Given the description of an element on the screen output the (x, y) to click on. 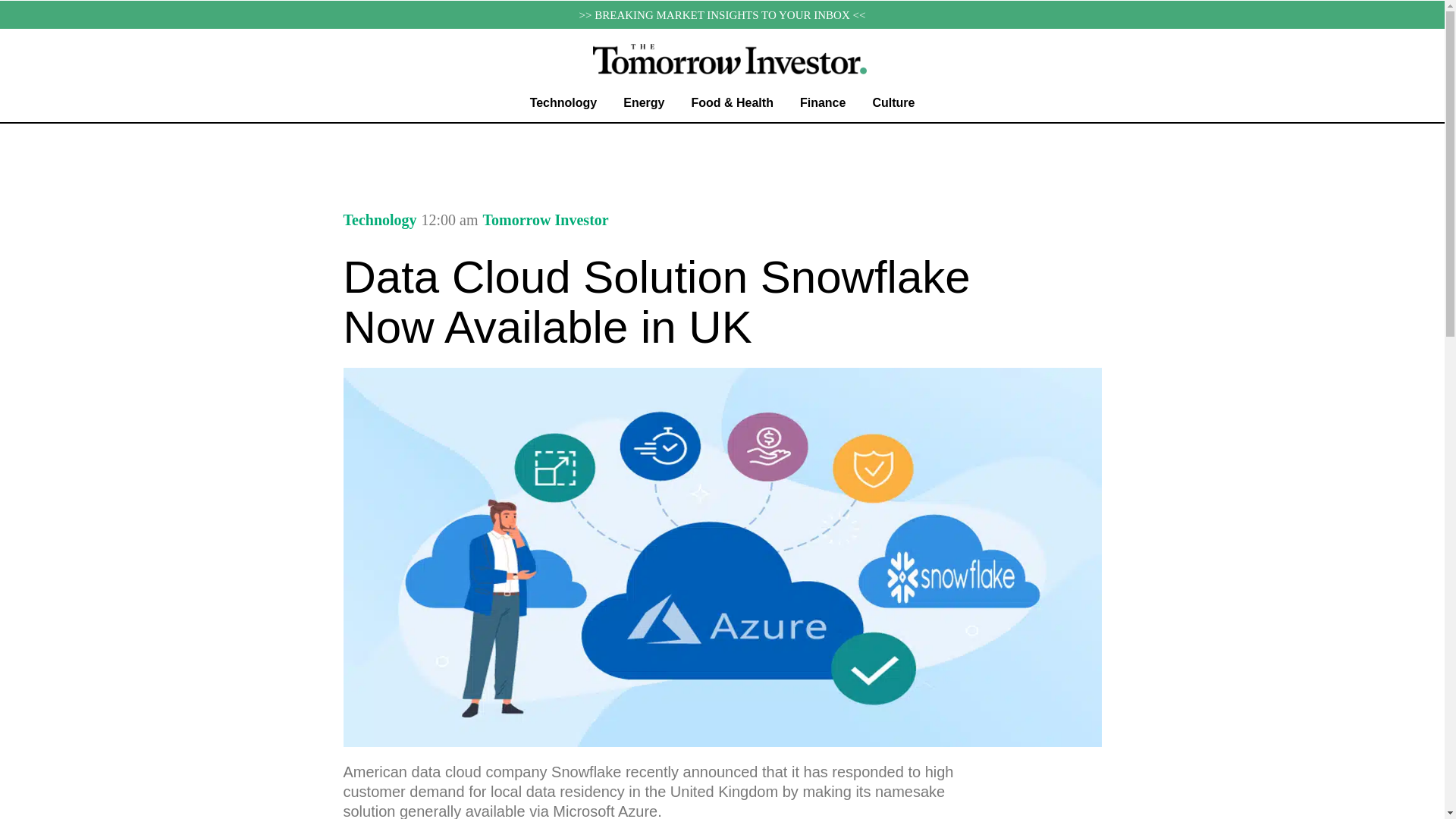
Technology (379, 219)
Energy (644, 103)
Tomorrow Investor (545, 219)
tradingview (722, 147)
Culture (892, 103)
Technology (563, 103)
Finance (822, 103)
